Given the description of an element on the screen output the (x, y) to click on. 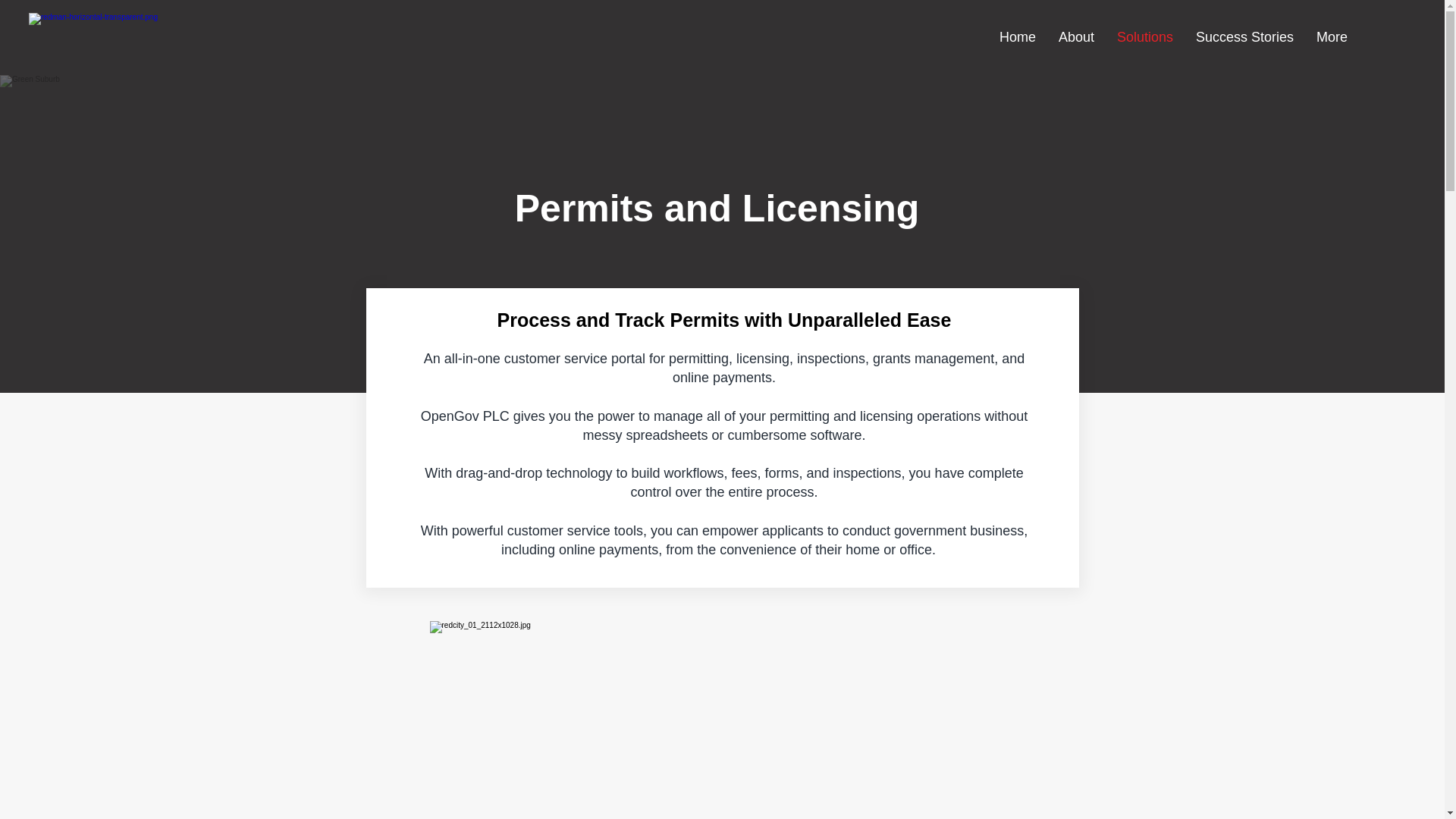
Home (1017, 36)
Solutions (1145, 36)
Success Stories (1244, 36)
About (1075, 36)
